Given the description of an element on the screen output the (x, y) to click on. 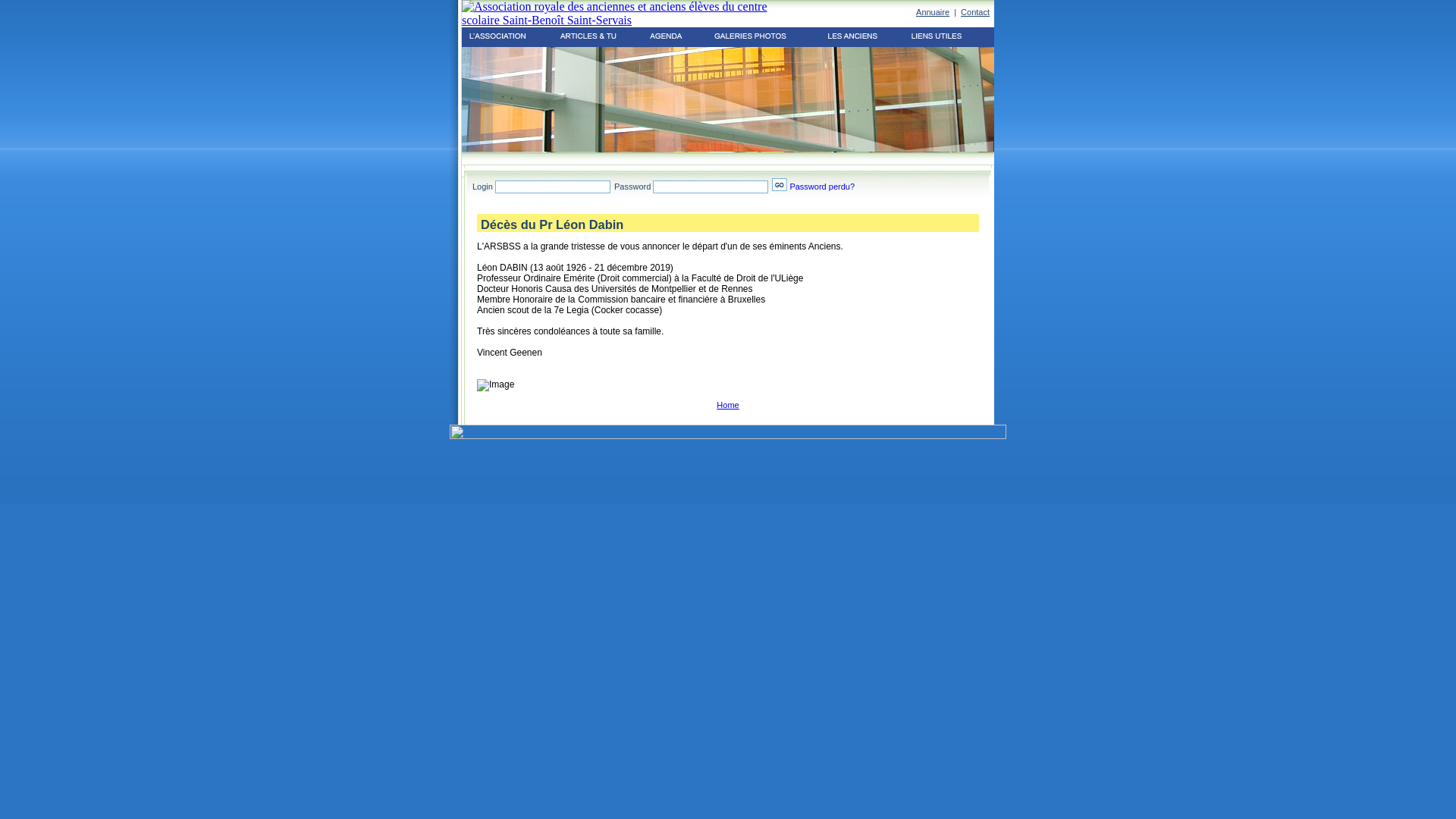
Contact Element type: text (974, 11)
Password perdu? Element type: text (821, 186)
Home Element type: text (727, 404)
Annuaire Element type: text (932, 11)
